Given the description of an element on the screen output the (x, y) to click on. 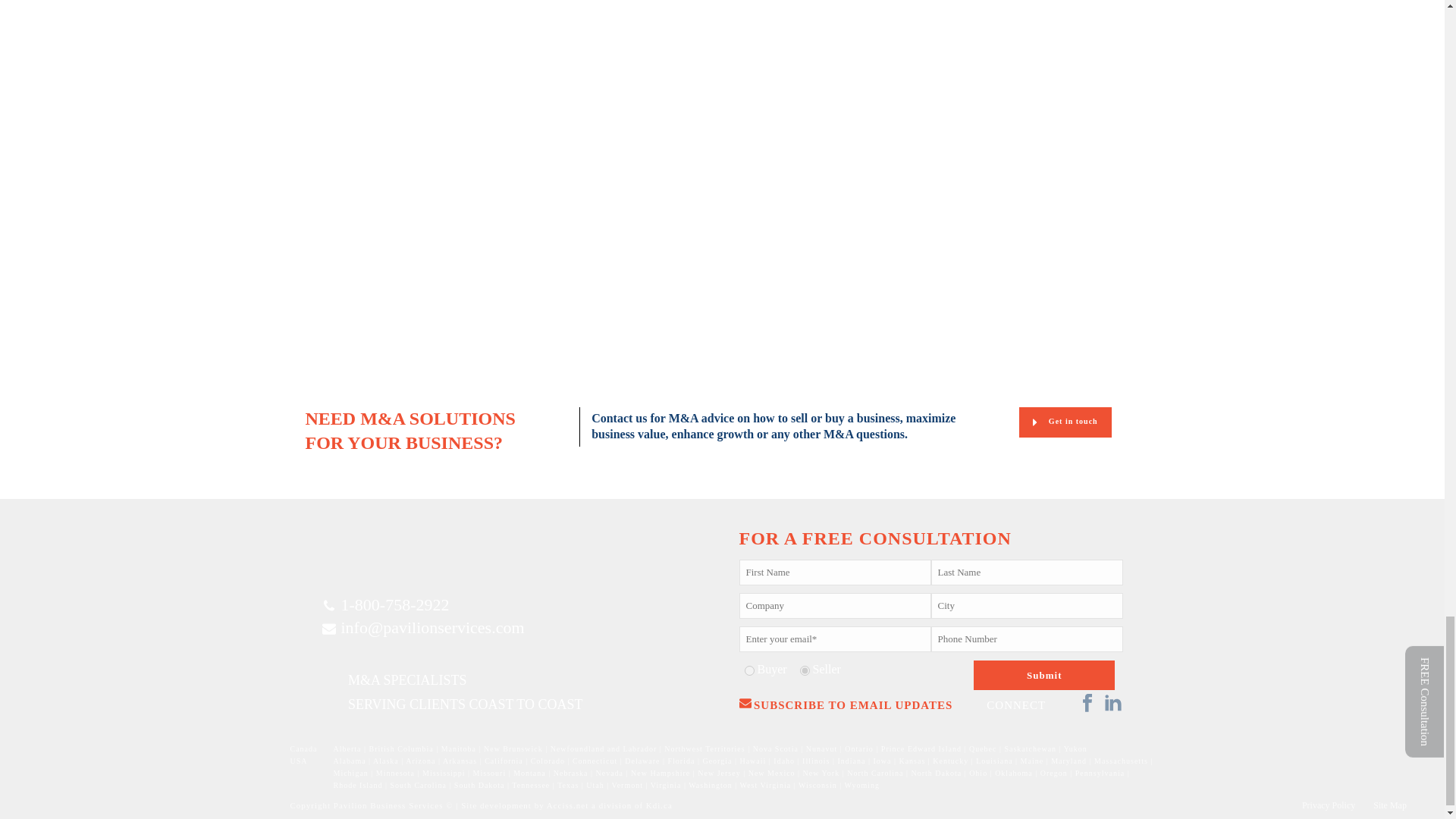
Get in touch (1064, 422)
Submit (1044, 675)
Buyer (749, 670)
Seller (804, 670)
